Given the description of an element on the screen output the (x, y) to click on. 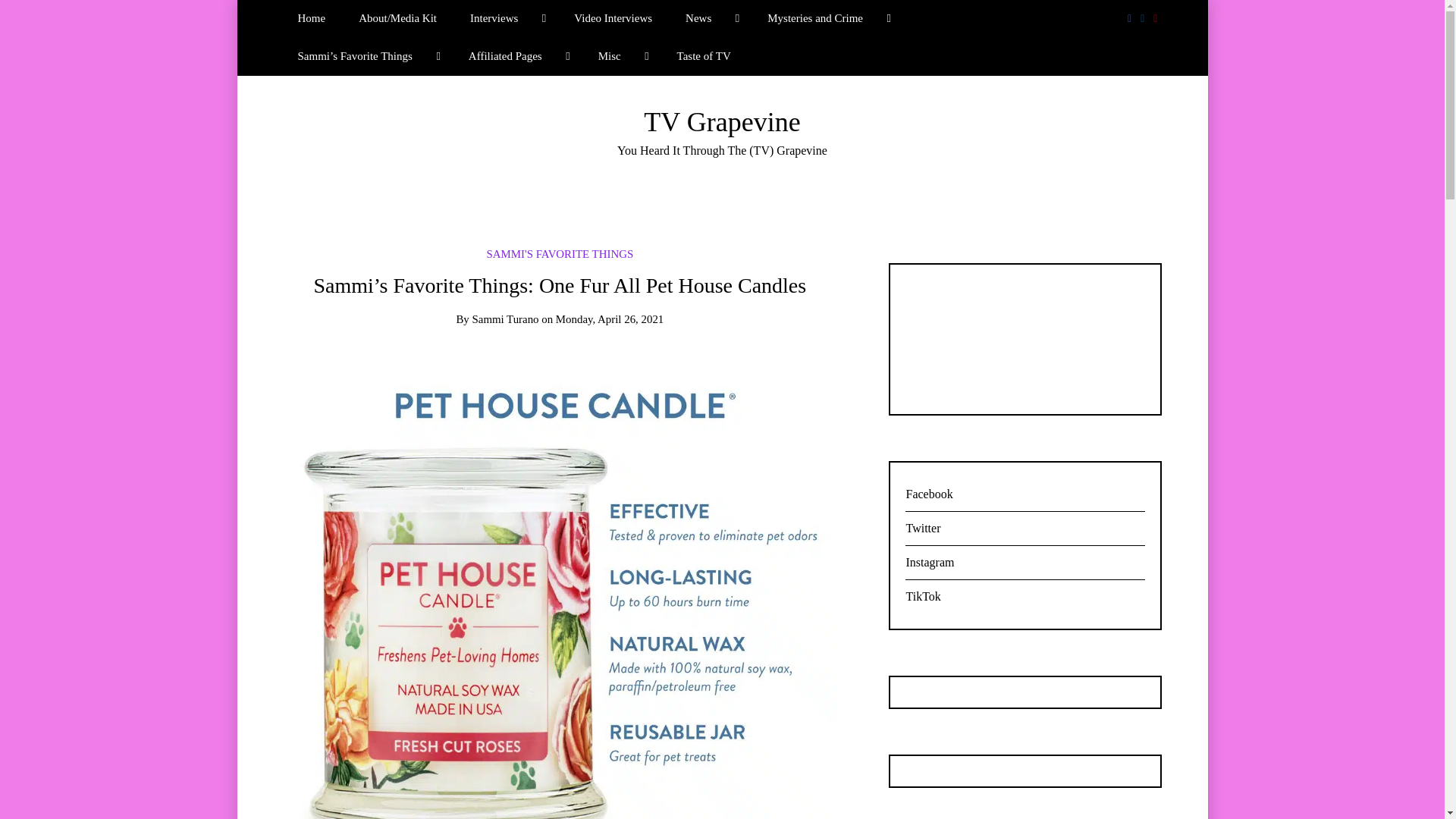
Posts by Sammi Turano (504, 318)
Video Interviews (612, 18)
Mysteries and Crime (826, 18)
Interviews (505, 18)
Affiliated Pages (515, 56)
Home (311, 18)
News (709, 18)
Taste of TV (703, 56)
Misc (621, 56)
